Given the description of an element on the screen output the (x, y) to click on. 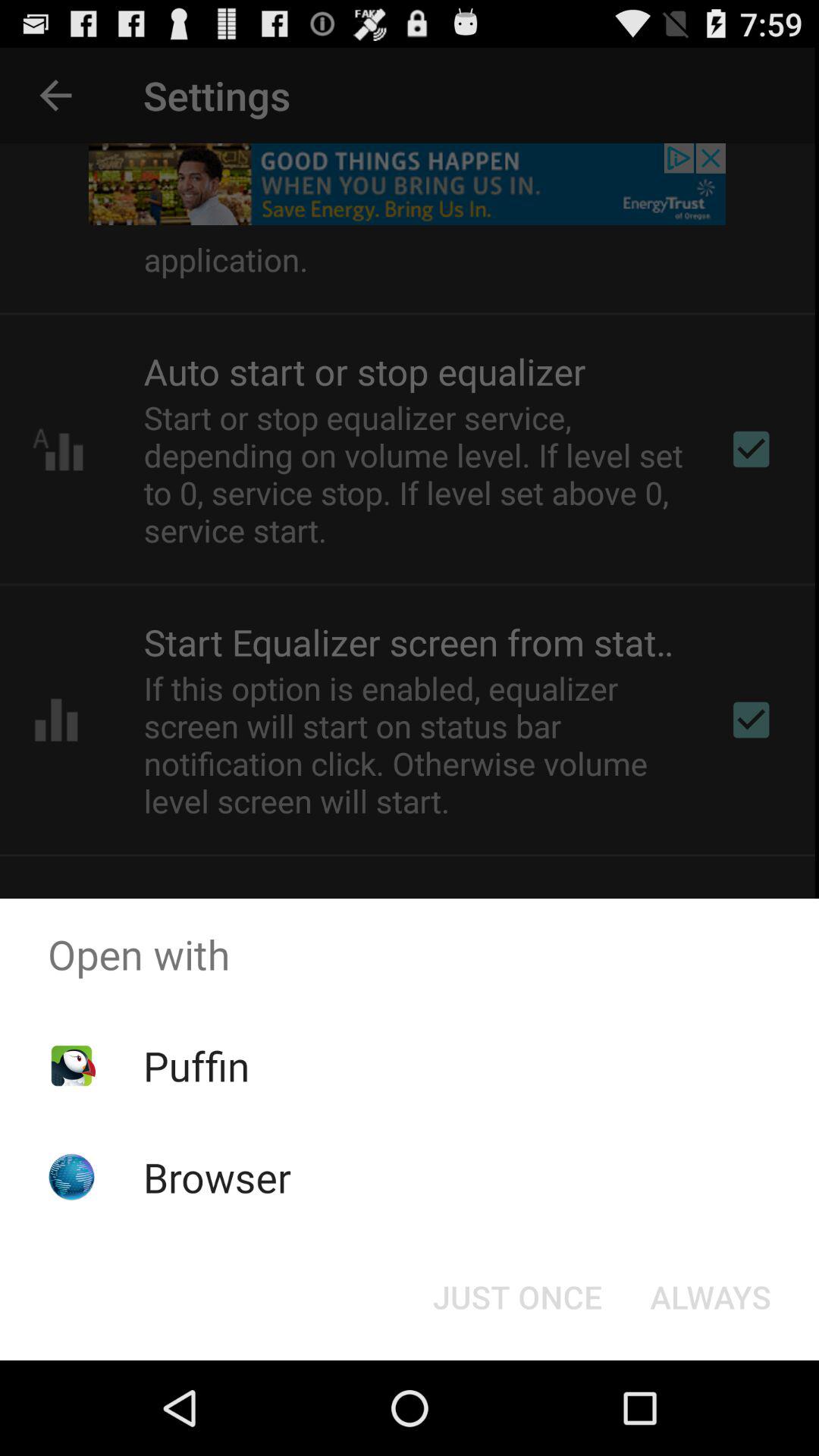
choose puffin item (196, 1065)
